Given the description of an element on the screen output the (x, y) to click on. 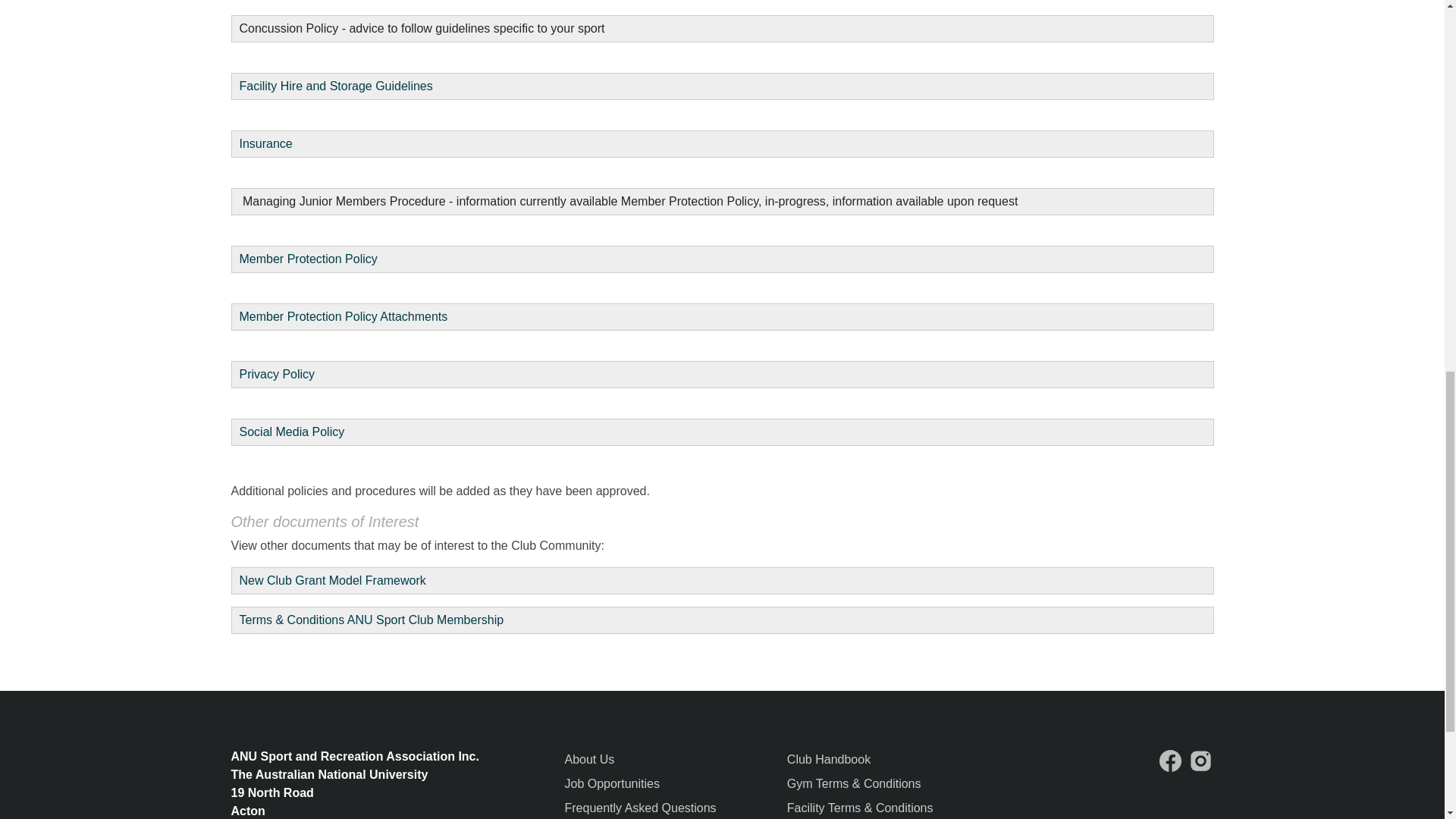
Club Handbook (828, 758)
View our Instagram site (1201, 760)
About Us (589, 758)
Insurance (266, 143)
Member Protection Policy Attachments  (345, 316)
View our Facebook site (1170, 760)
New Club Grant Model Framework (333, 580)
Frequently Asked Questions (640, 807)
Member Protection Policy (308, 258)
Job Opportunities (611, 783)
Social Media Policy (292, 431)
Privacy Policy (277, 373)
Facility Hire and Storage Guidelines  (338, 85)
